Given the description of an element on the screen output the (x, y) to click on. 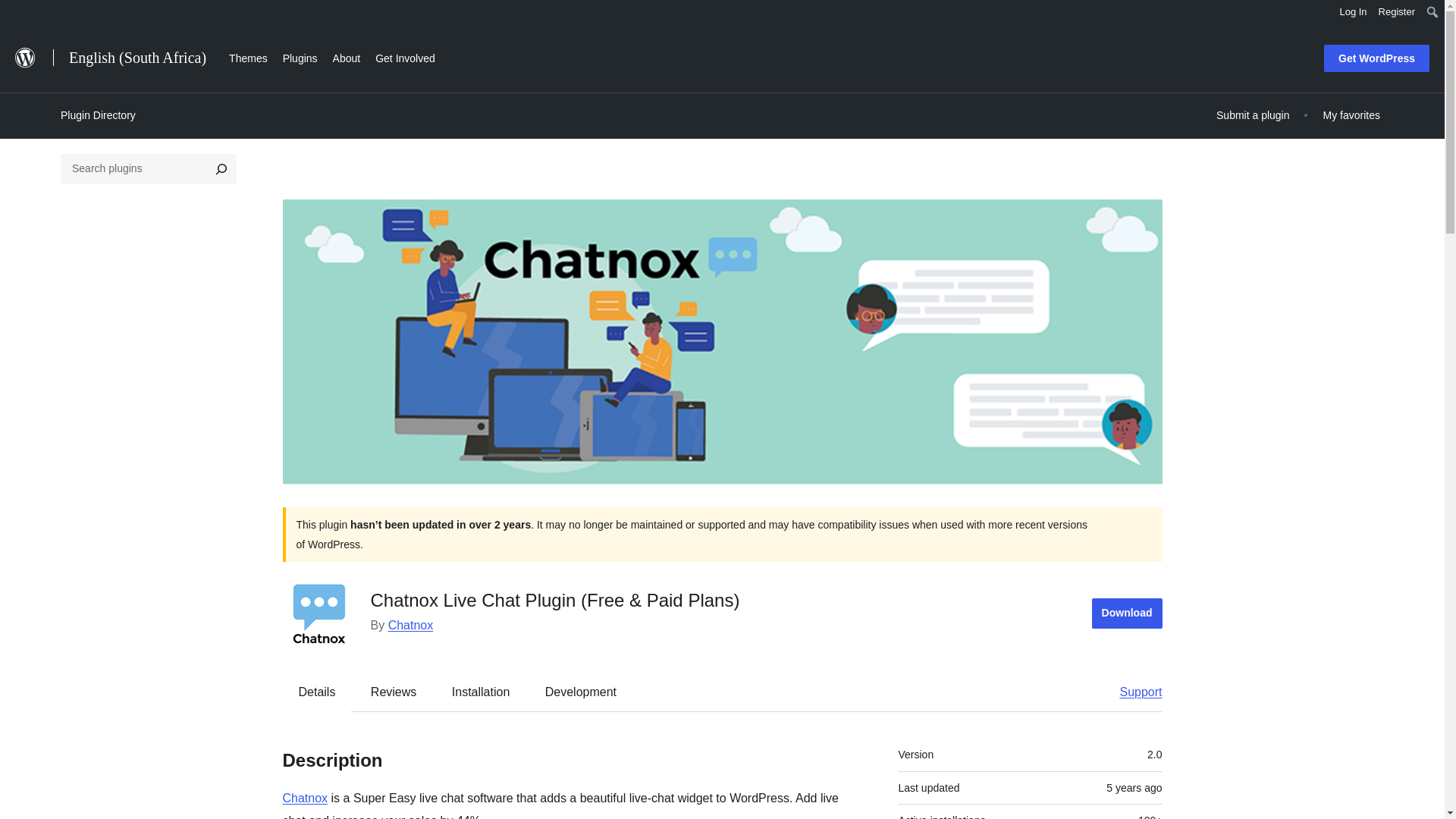
Register (1397, 12)
Details (316, 692)
Download (1126, 613)
Development (580, 692)
Log In (1353, 12)
Get Involved (405, 56)
Chatnox (410, 625)
Submit a plugin (1253, 115)
Get WordPress (1376, 58)
Search (16, 13)
Plugin Directory (97, 115)
Installation (480, 692)
Chatnox (304, 797)
My favorites (1351, 115)
Reviews (392, 692)
